Given the description of an element on the screen output the (x, y) to click on. 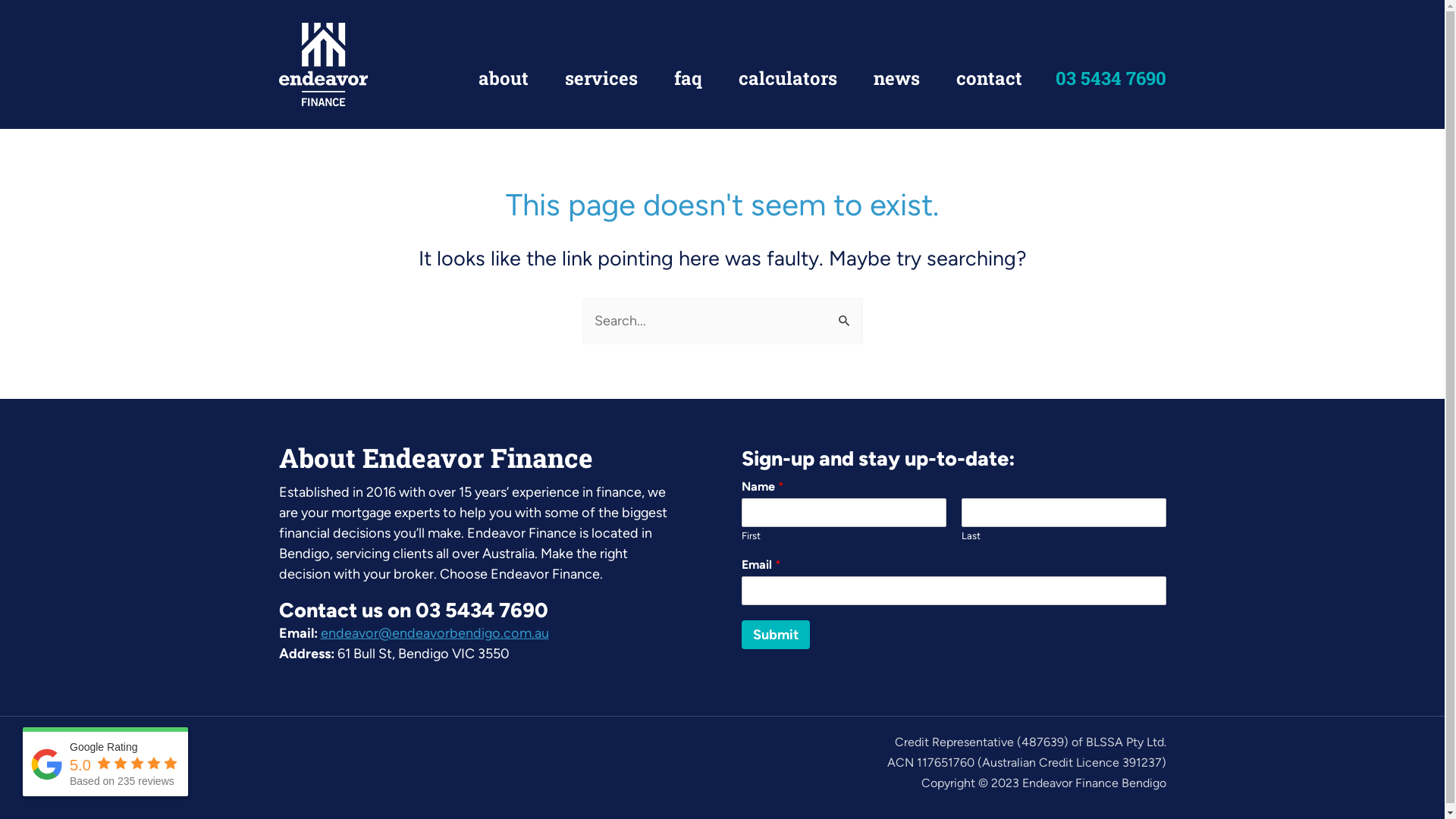
faq Element type: text (687, 77)
endeavor@endeavorbendigo.com.au Element type: text (434, 632)
services Element type: text (600, 77)
contact Element type: text (988, 77)
calculators Element type: text (787, 77)
03 5434 7690 Element type: text (1110, 80)
Submit Element type: text (775, 634)
about Element type: text (502, 77)
Search Element type: text (845, 313)
news Element type: text (896, 77)
